Given the description of an element on the screen output the (x, y) to click on. 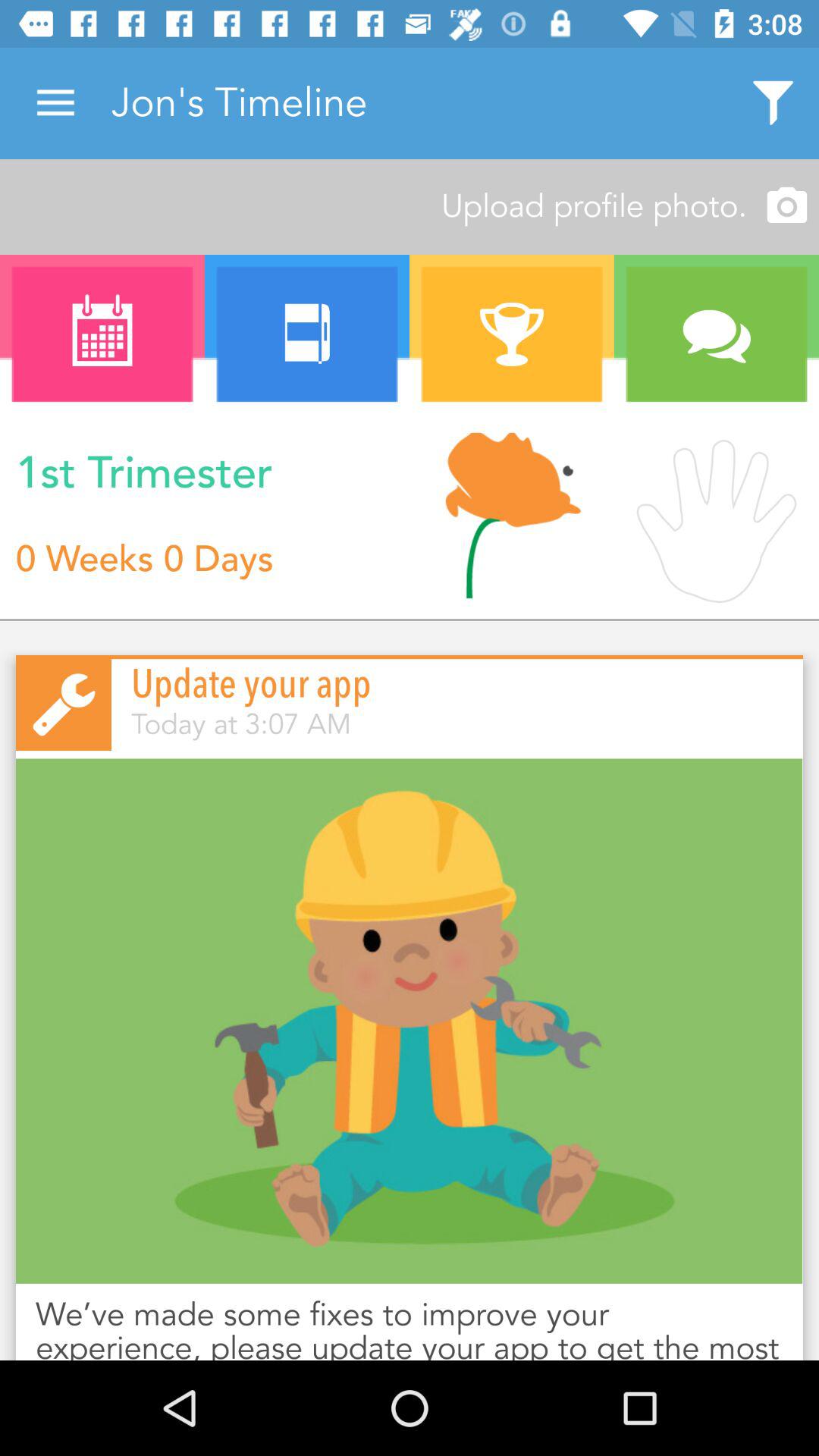
graphic image to describe app (409, 1020)
